Given the description of an element on the screen output the (x, y) to click on. 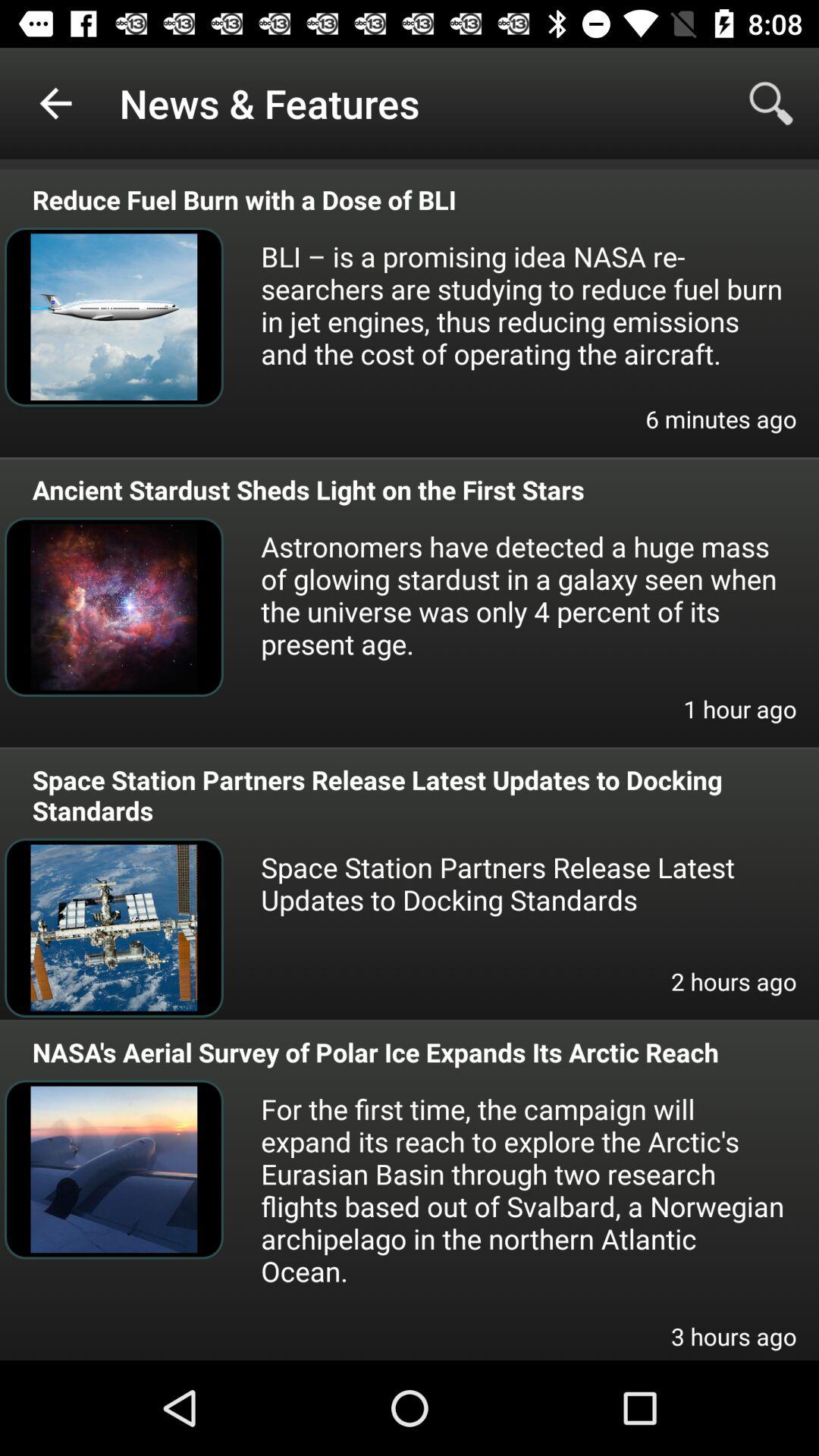
choose the item to the left of the news & features (55, 103)
